Given the description of an element on the screen output the (x, y) to click on. 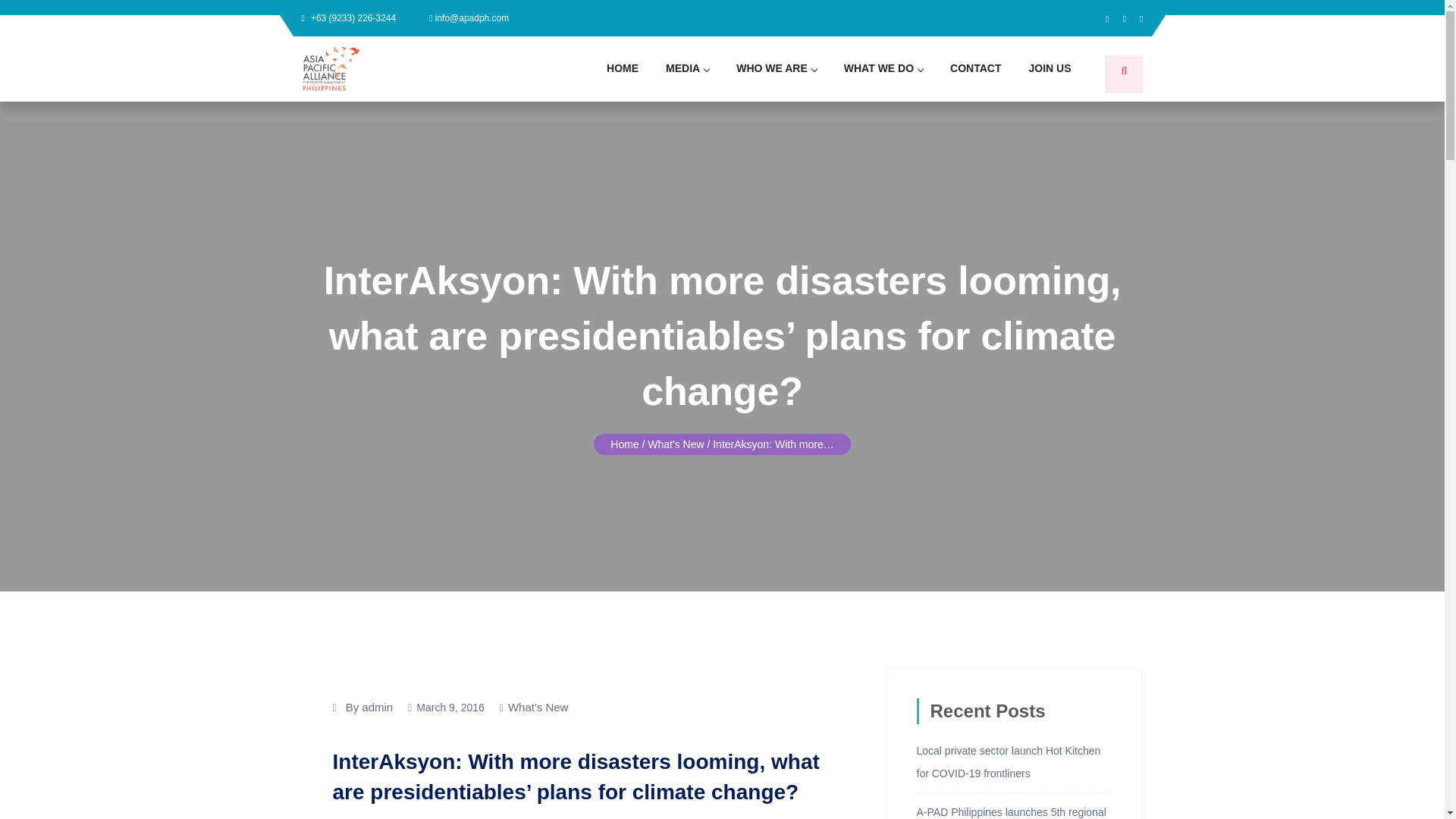
WHAT WE DO (882, 67)
WHO WE ARE (775, 67)
CONTACT (975, 67)
HOME (622, 67)
What's New (538, 707)
MEDIA (687, 67)
By admin (369, 707)
Home (624, 444)
